Given the description of an element on the screen output the (x, y) to click on. 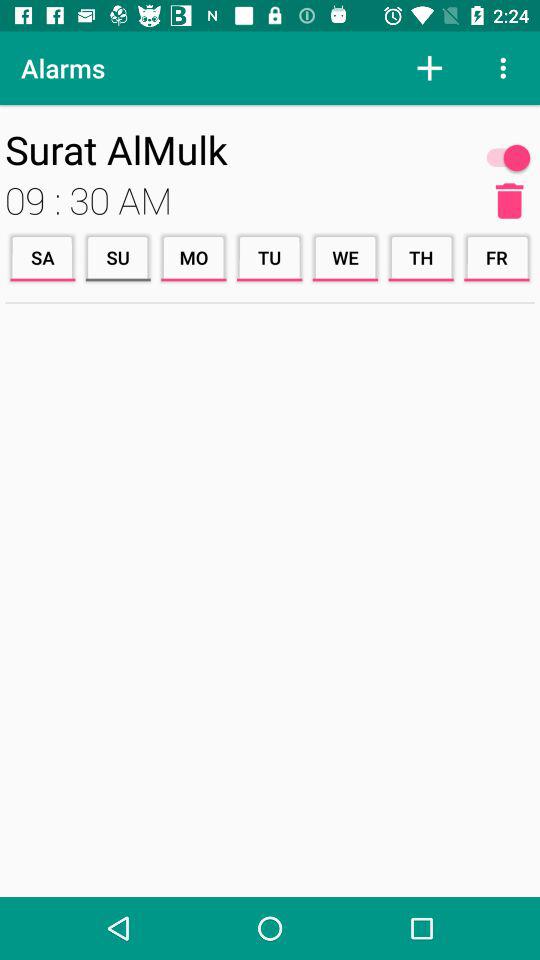
press sa (42, 257)
